Given the description of an element on the screen output the (x, y) to click on. 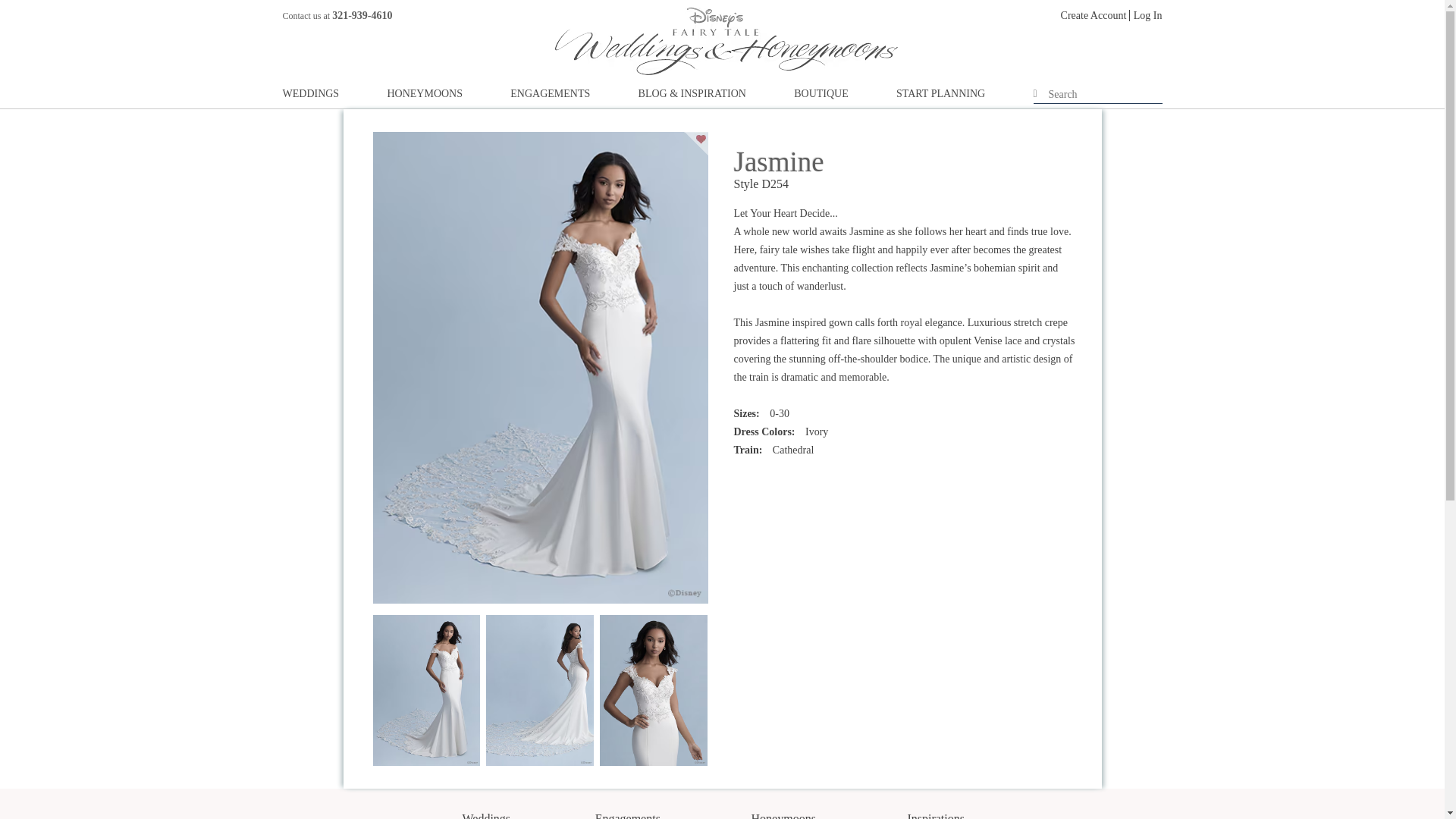
START PLANNING (940, 97)
WEDDINGS (310, 97)
Create Account (1095, 15)
Disney Fairy Tale Weddings and Honeymoon (726, 41)
Contact us at 321-939-4610 (336, 15)
BOUTIQUE (820, 97)
WEDDINGS (310, 97)
HONEYMOONS (425, 97)
HONEYMOONS (425, 97)
ENGAGEMENTS (550, 97)
Log In (1147, 15)
